Given the description of an element on the screen output the (x, y) to click on. 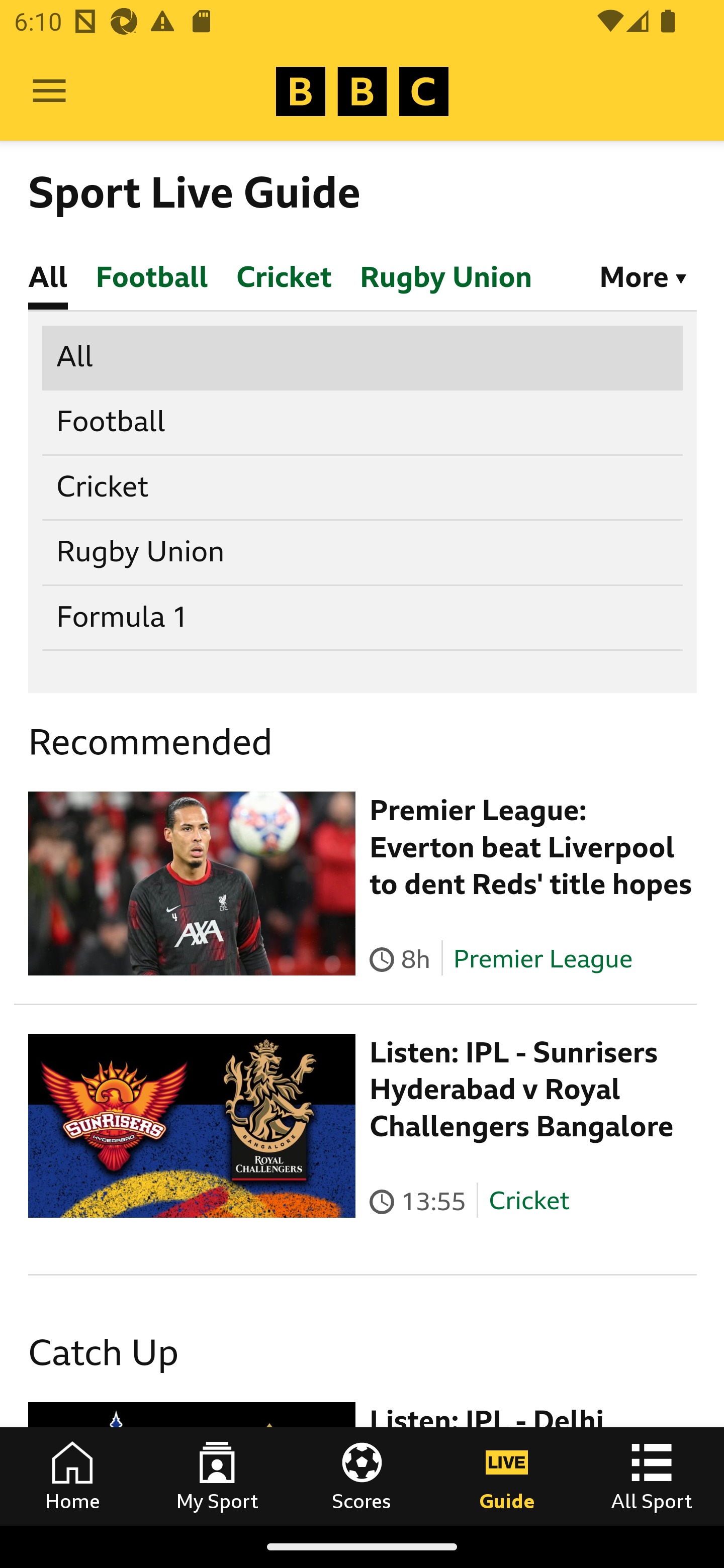
Open Menu (49, 91)
All (362, 356)
Football (362, 422)
Cricket (362, 486)
Rugby Union (362, 552)
Formula 1 (362, 616)
Premier League (542, 957)
Cricket (528, 1200)
Home (72, 1475)
My Sport (216, 1475)
Scores (361, 1475)
All Sport (651, 1475)
